Given the description of an element on the screen output the (x, y) to click on. 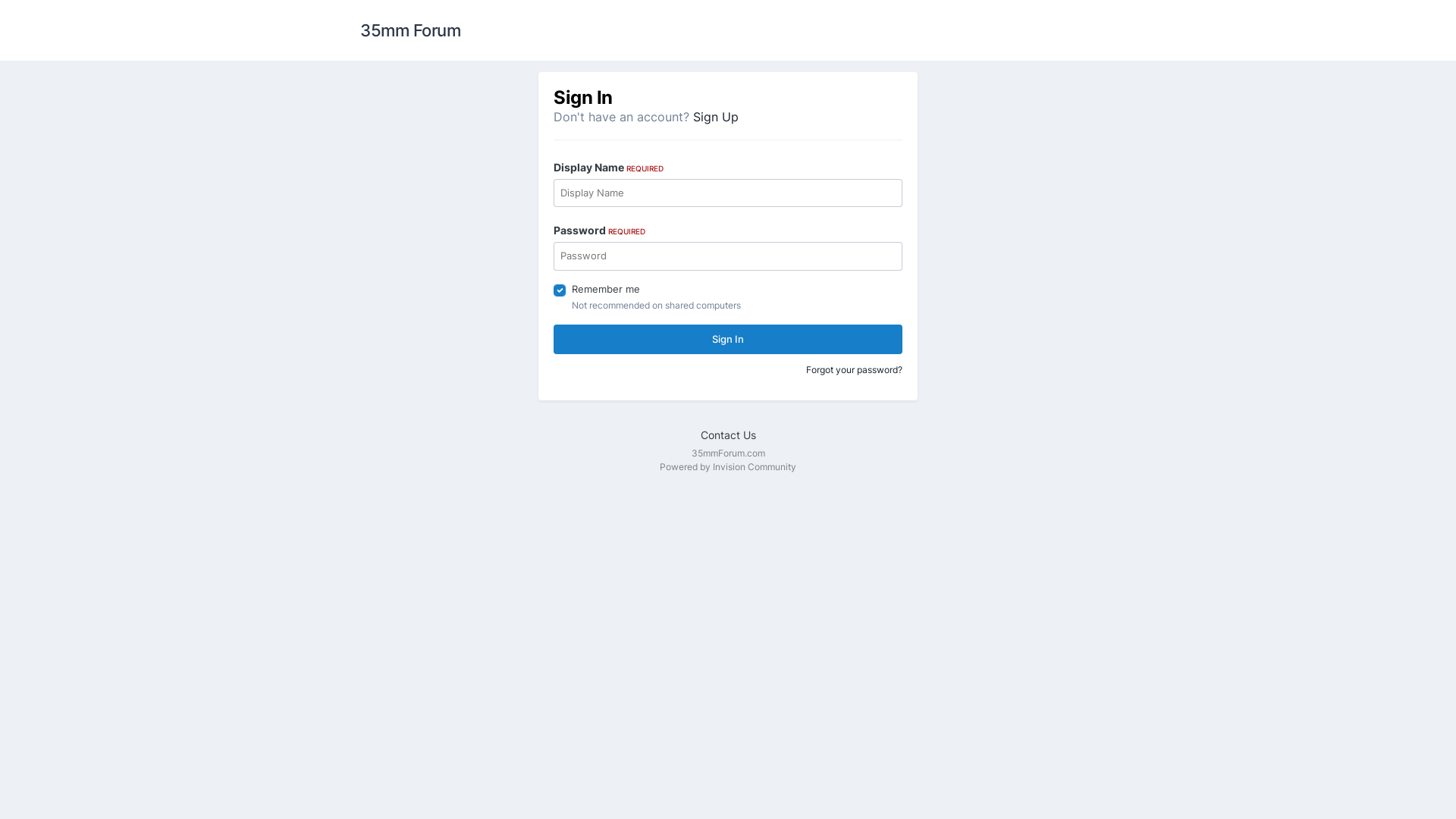
Sign Up Element type: text (715, 116)
Powered by Invision Community Element type: text (727, 466)
35mm Forum Element type: text (410, 30)
Contact Us Element type: text (728, 434)
Forgot your password? Element type: text (854, 369)
Sign In Element type: text (727, 339)
